Given the description of an element on the screen output the (x, y) to click on. 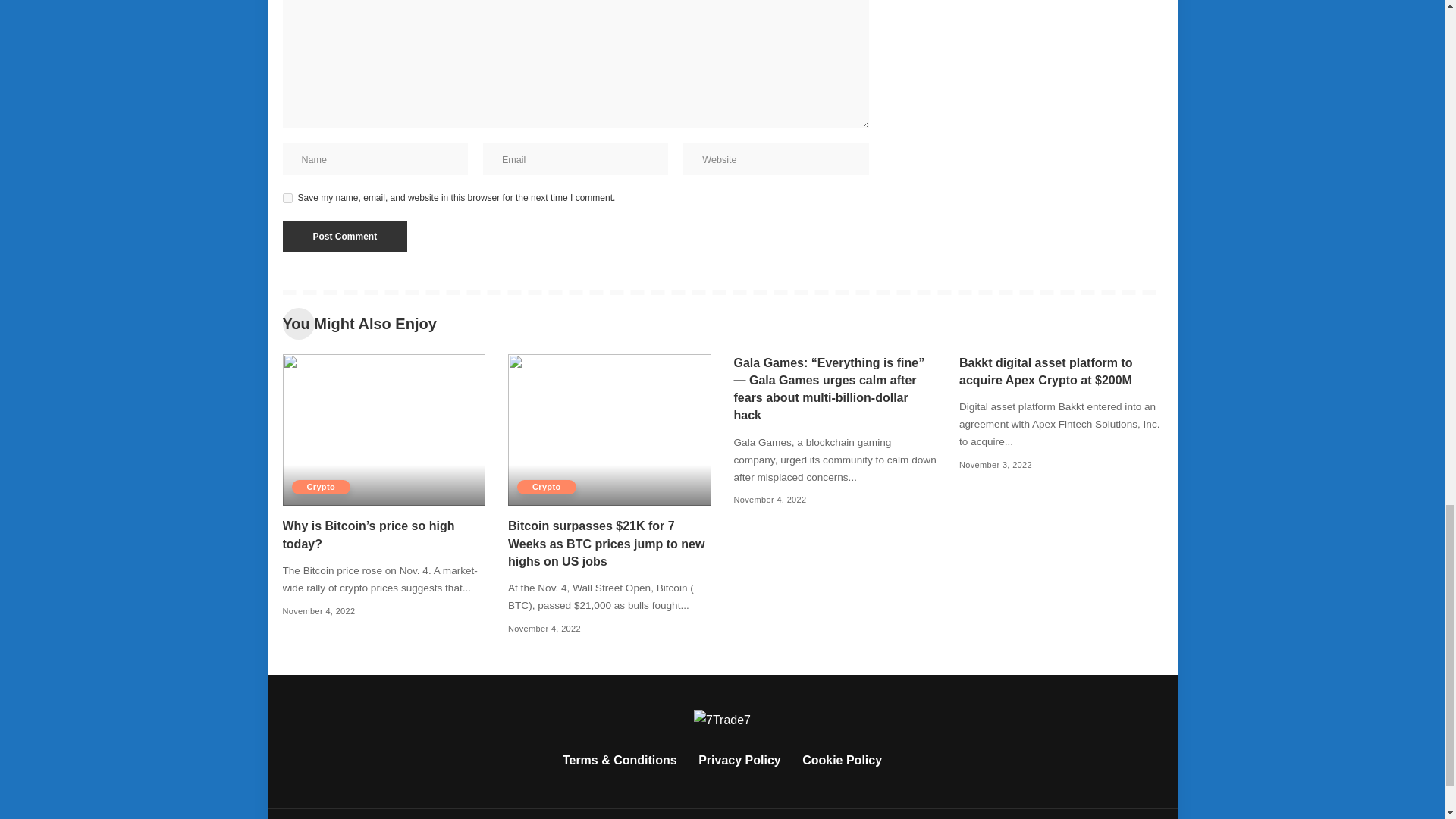
yes (287, 198)
Post Comment (344, 236)
